Given the description of an element on the screen output the (x, y) to click on. 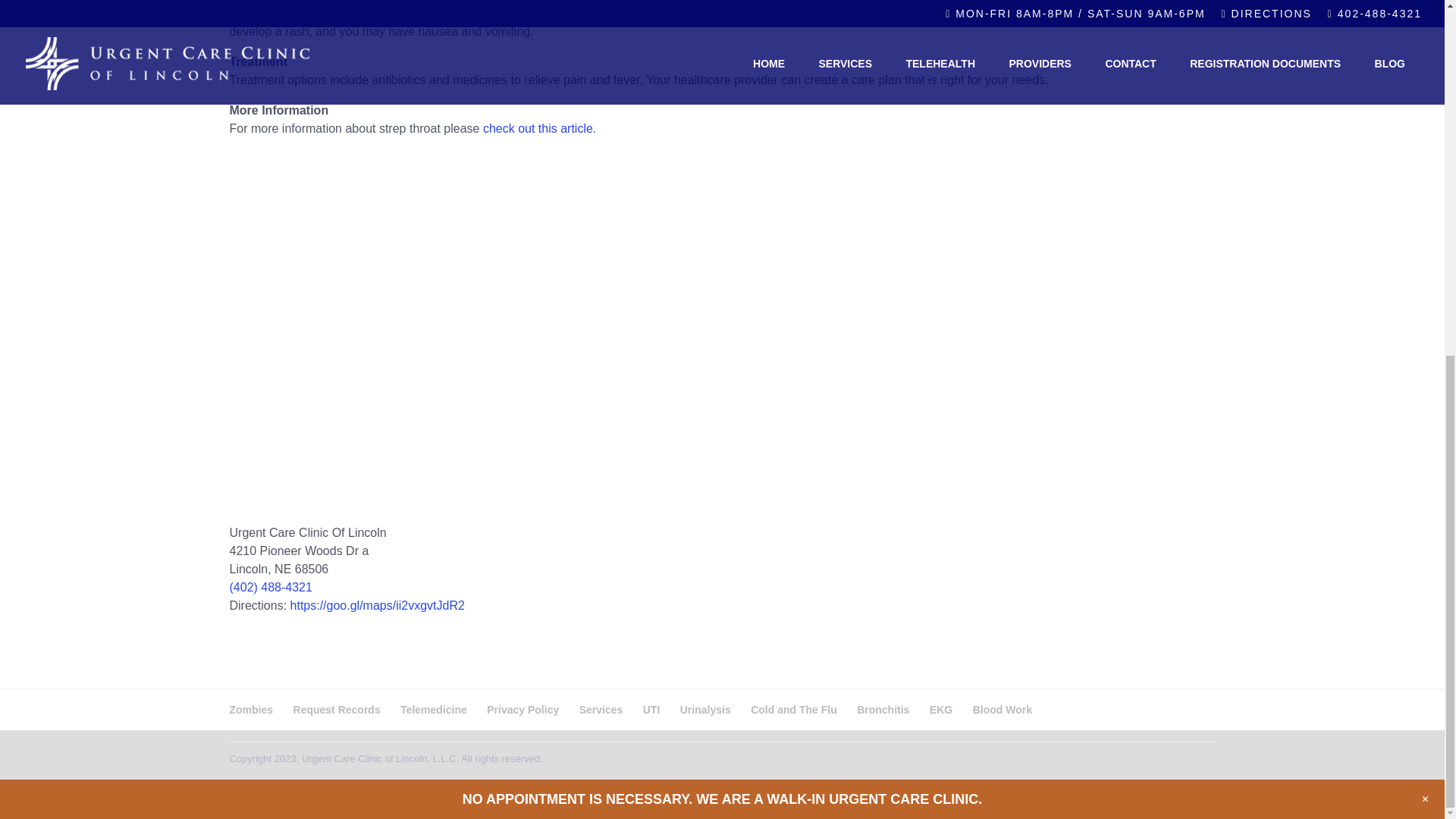
check out this article (537, 128)
Request Records (337, 709)
UTI (652, 709)
EKG (941, 709)
Zombies (250, 709)
Privacy Policy (522, 709)
Telemedicine (433, 709)
Bronchitis (882, 709)
Services (601, 709)
Cold and The Flu (794, 709)
